Given the description of an element on the screen output the (x, y) to click on. 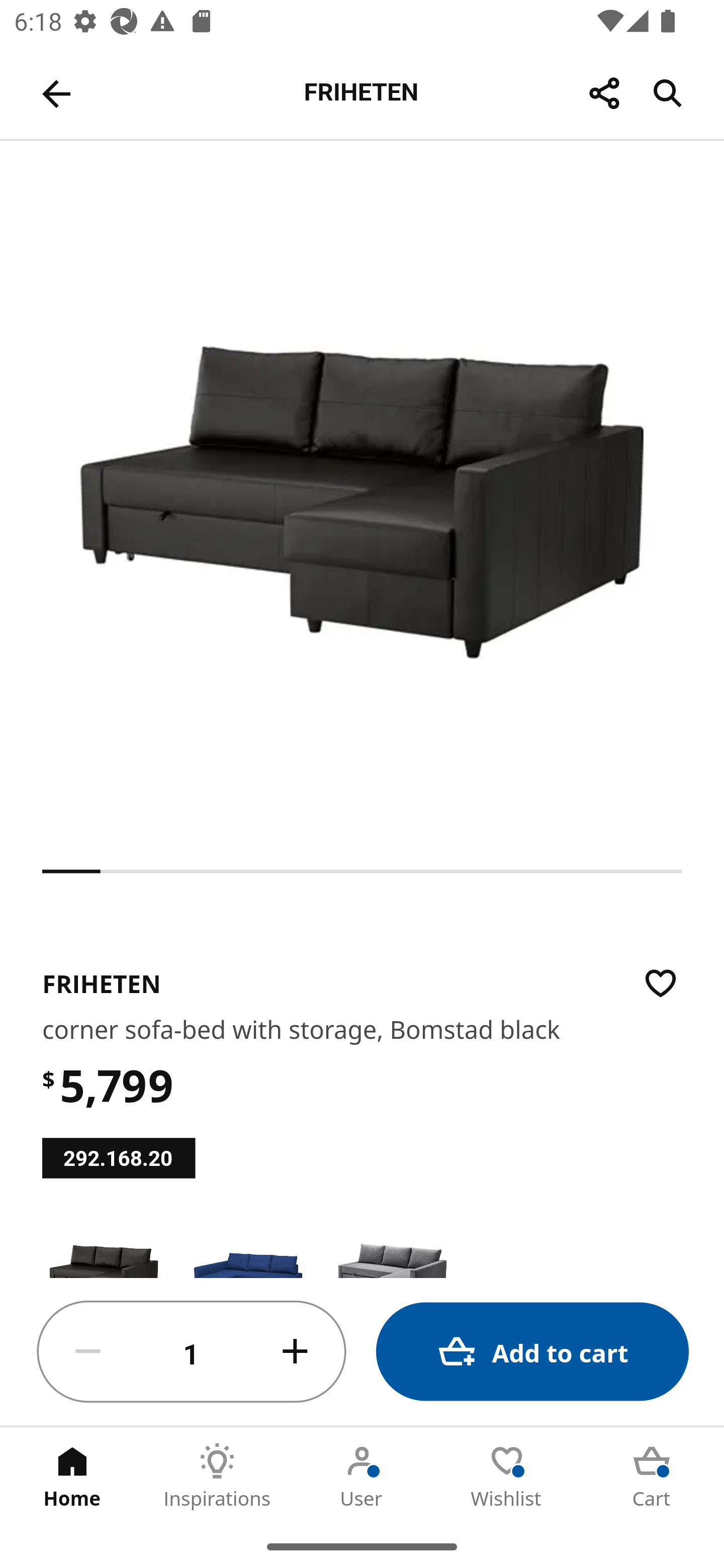
Add to cart (531, 1352)
1 (191, 1352)
Home
Tab 1 of 5 (72, 1476)
Inspirations
Tab 2 of 5 (216, 1476)
User
Tab 3 of 5 (361, 1476)
Wishlist
Tab 4 of 5 (506, 1476)
Cart
Tab 5 of 5 (651, 1476)
